Given the description of an element on the screen output the (x, y) to click on. 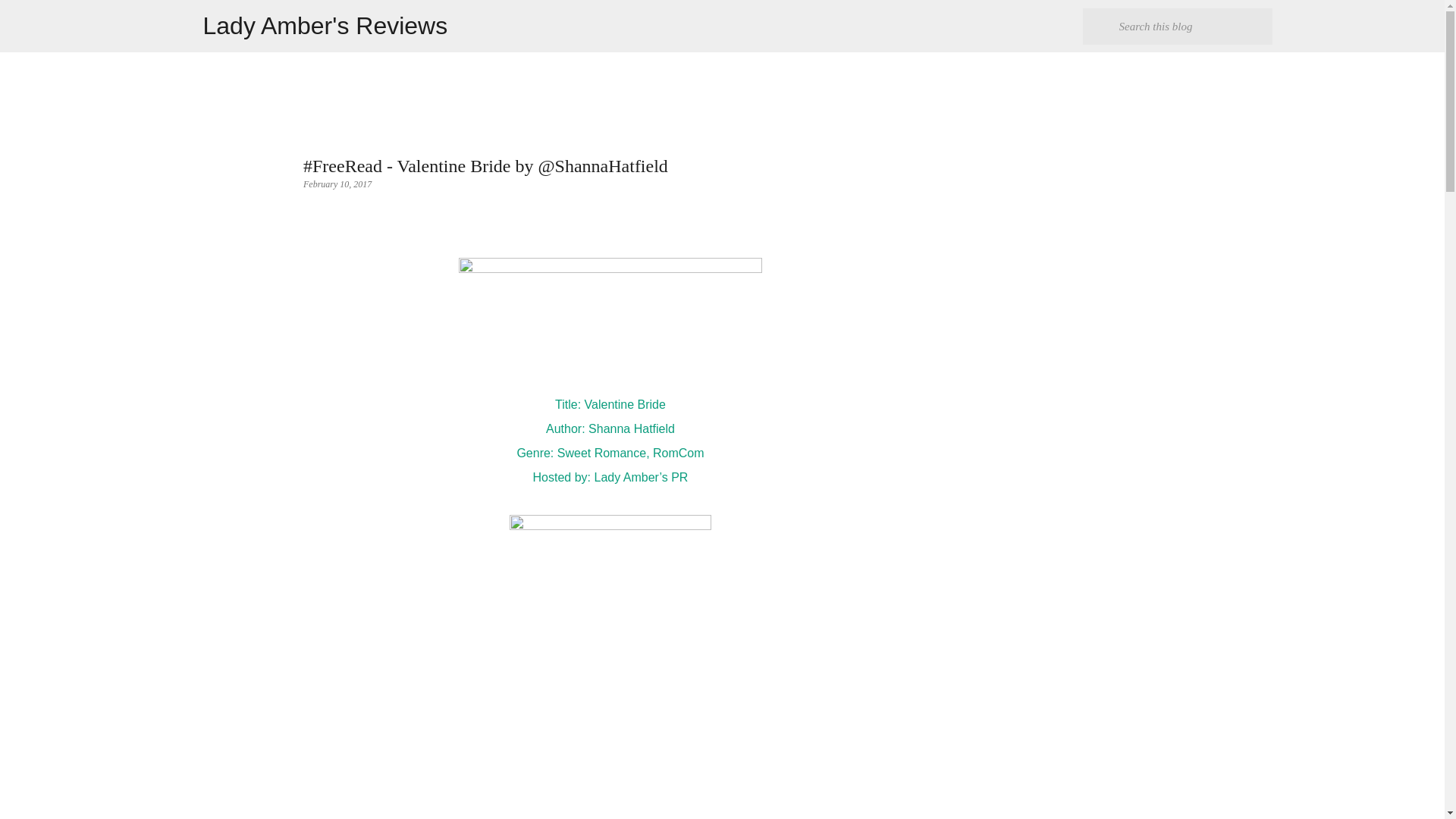
Lady Amber's Reviews (325, 25)
February 10, 2017 (336, 184)
permanent link (336, 184)
